Given the description of an element on the screen output the (x, y) to click on. 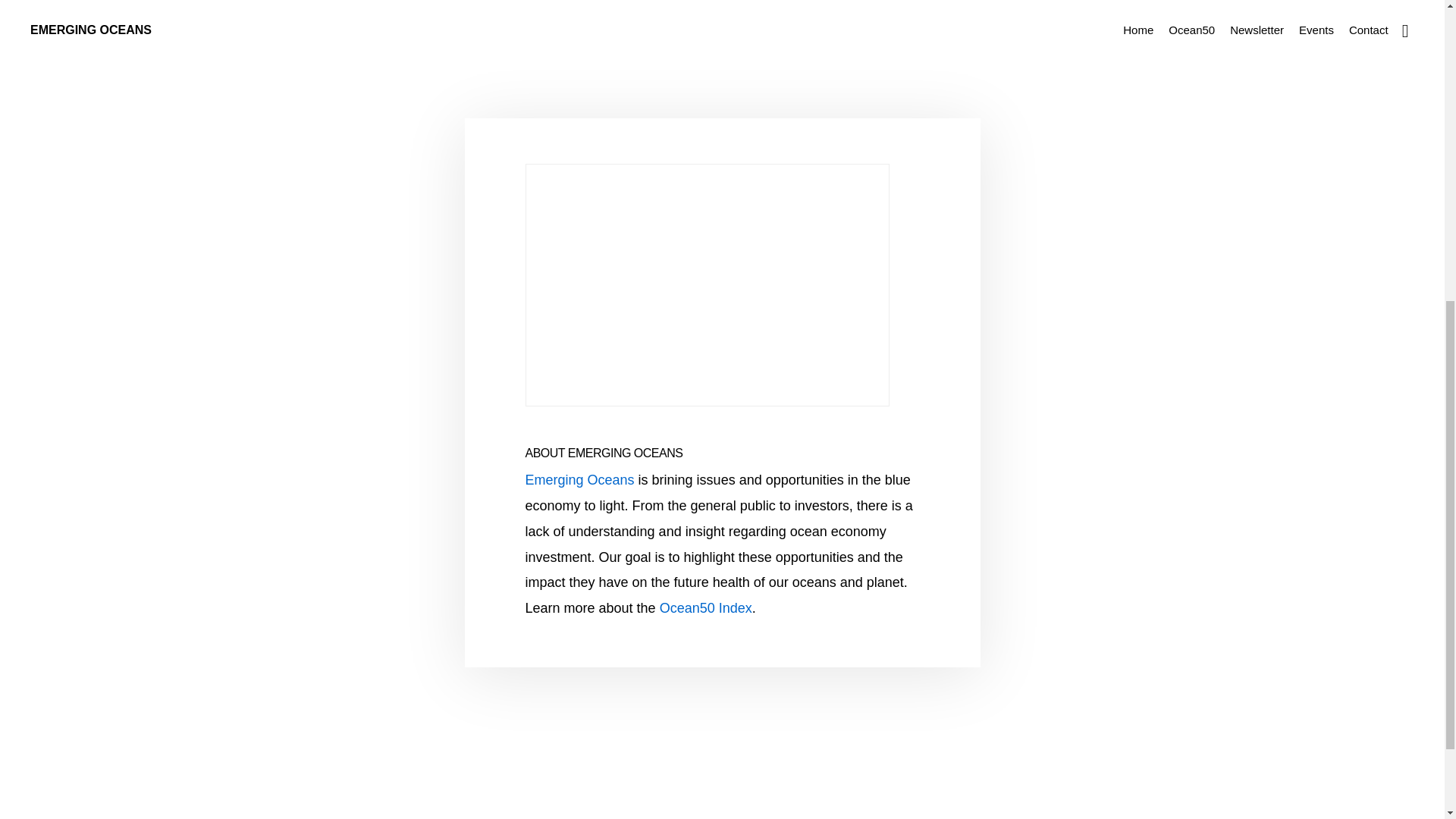
Emerging Oceans (578, 479)
OCEAN50 (645, 244)
News (489, 30)
Ocean50 Index (705, 607)
NEWSLETTER (717, 244)
CONTACT (842, 244)
EVENTS (785, 244)
HOME (593, 244)
